Given the description of an element on the screen output the (x, y) to click on. 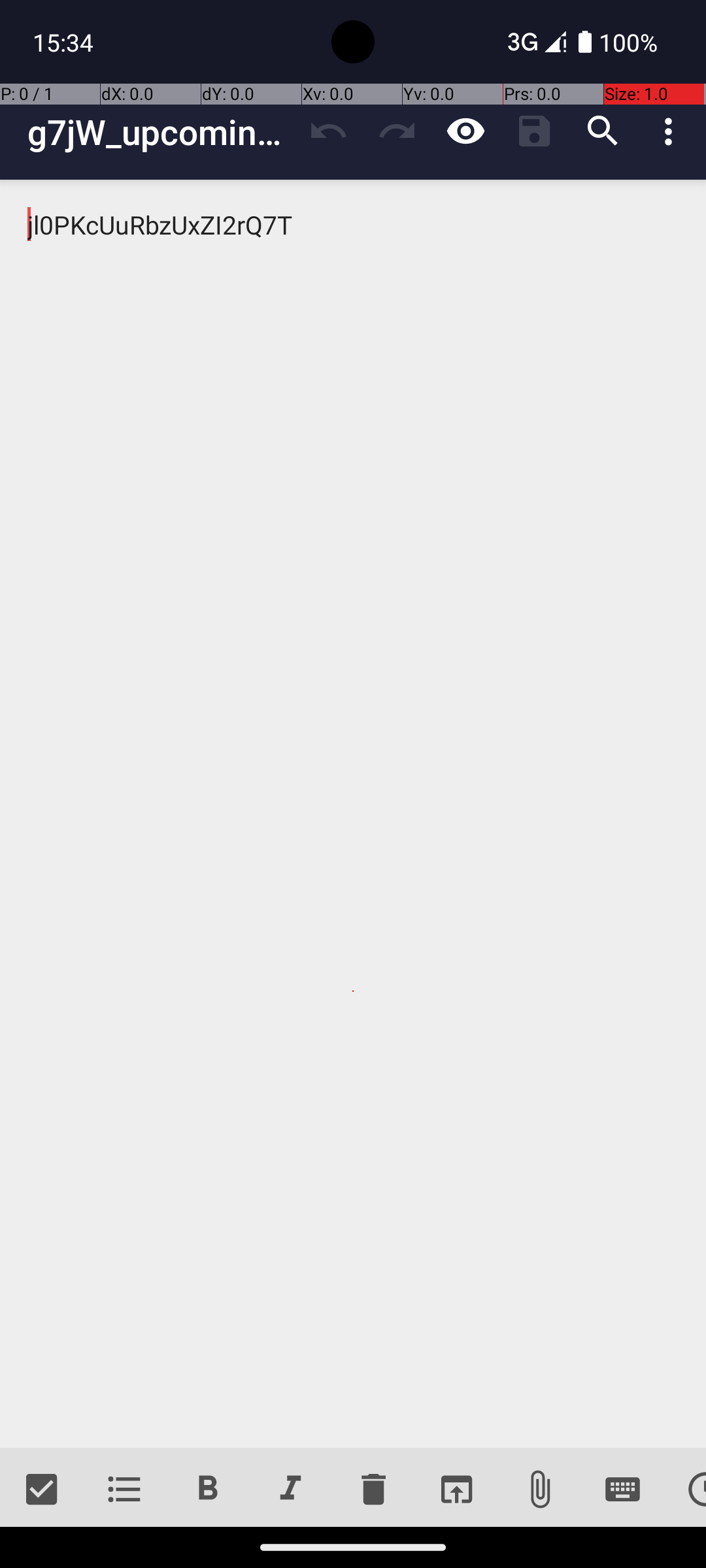
g7jW_upcoming_presentation_outline Element type: android.widget.TextView (160, 131)
jl0PKcUuRbzUxZI2rQ7T
 Element type: android.widget.EditText (353, 813)
